Given the description of an element on the screen output the (x, y) to click on. 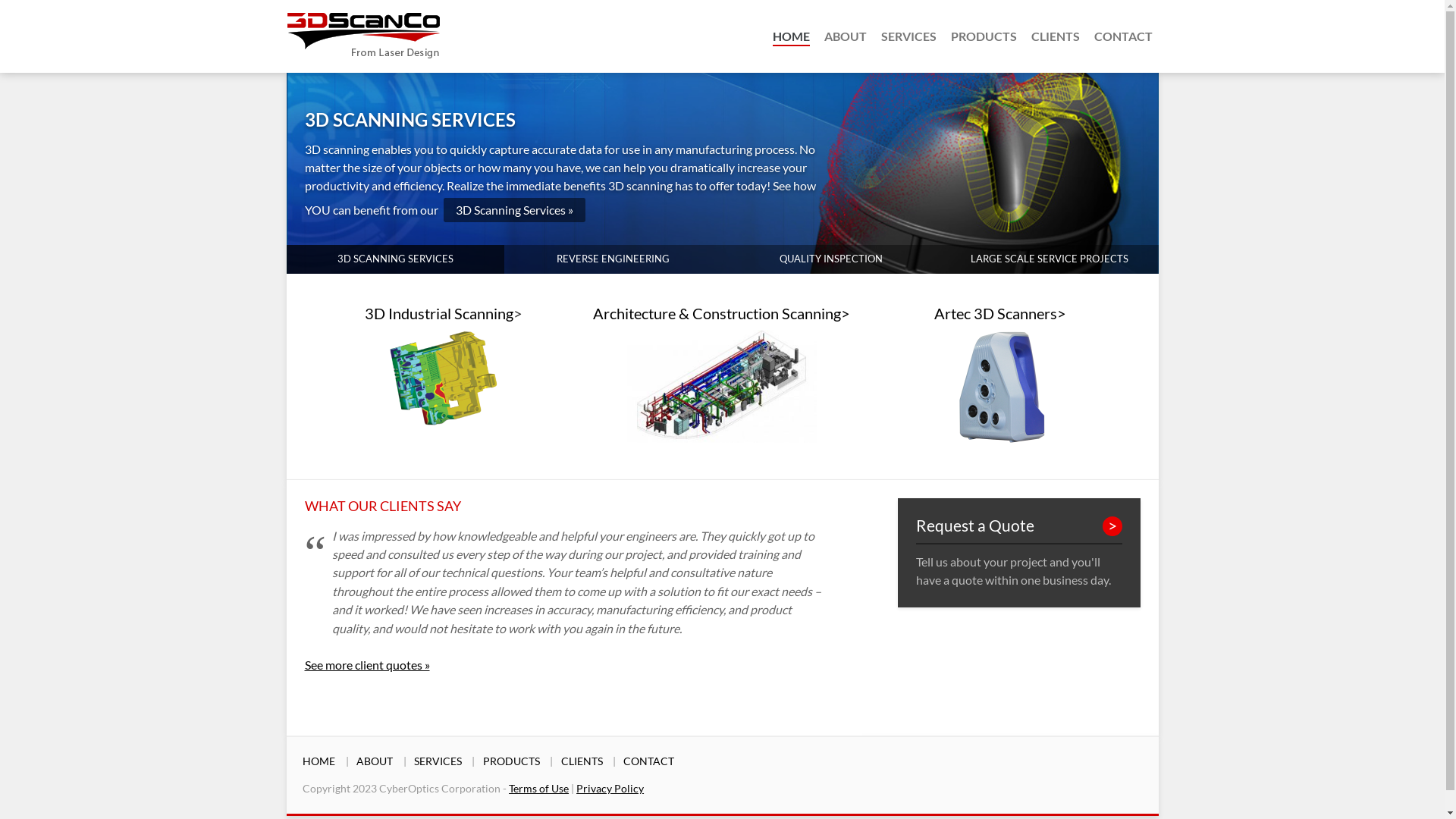
ABOUT Element type: text (374, 760)
HOME Element type: text (318, 760)
Privacy Policy Element type: text (609, 787)
CLIENTS Element type: text (581, 760)
CLIENTS Element type: text (1055, 36)
Artec 3D Scanners> Element type: text (1000, 313)
PRODUCTS Element type: text (983, 36)
PRODUCTS Element type: text (511, 760)
ABOUT Element type: text (844, 36)
3D Industrial Scanning Element type: text (438, 313)
SERVICES Element type: text (908, 36)
Terms of Use Element type: text (538, 787)
Architecture & Construction Scanning> Element type: text (721, 313)
SERVICES Element type: text (437, 760)
CONTACT Element type: text (1122, 36)
CONTACT Element type: text (648, 760)
HOME Element type: text (790, 36)
